Given the description of an element on the screen output the (x, y) to click on. 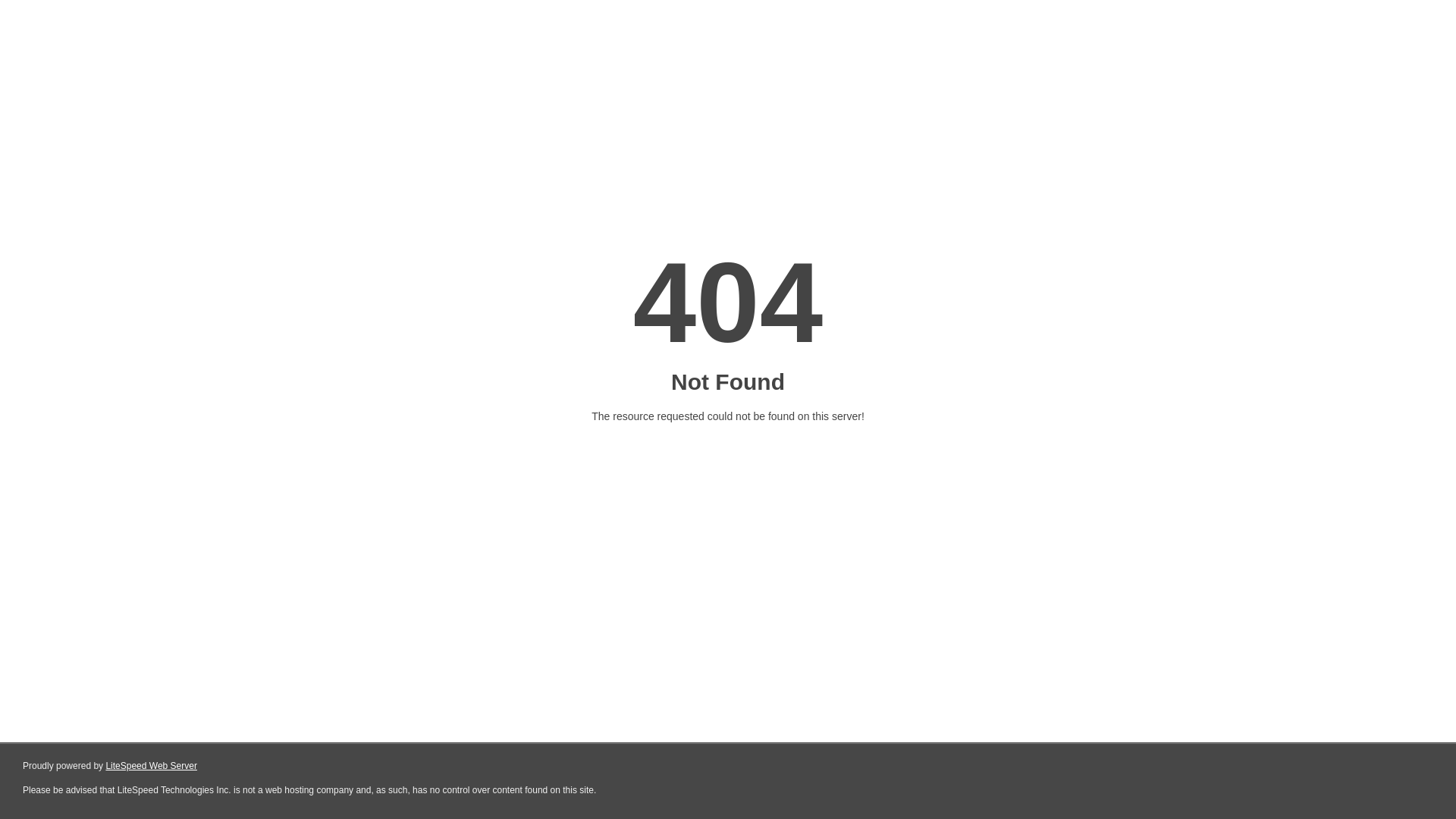
LiteSpeed Web Server Element type: text (151, 765)
